Given the description of an element on the screen output the (x, y) to click on. 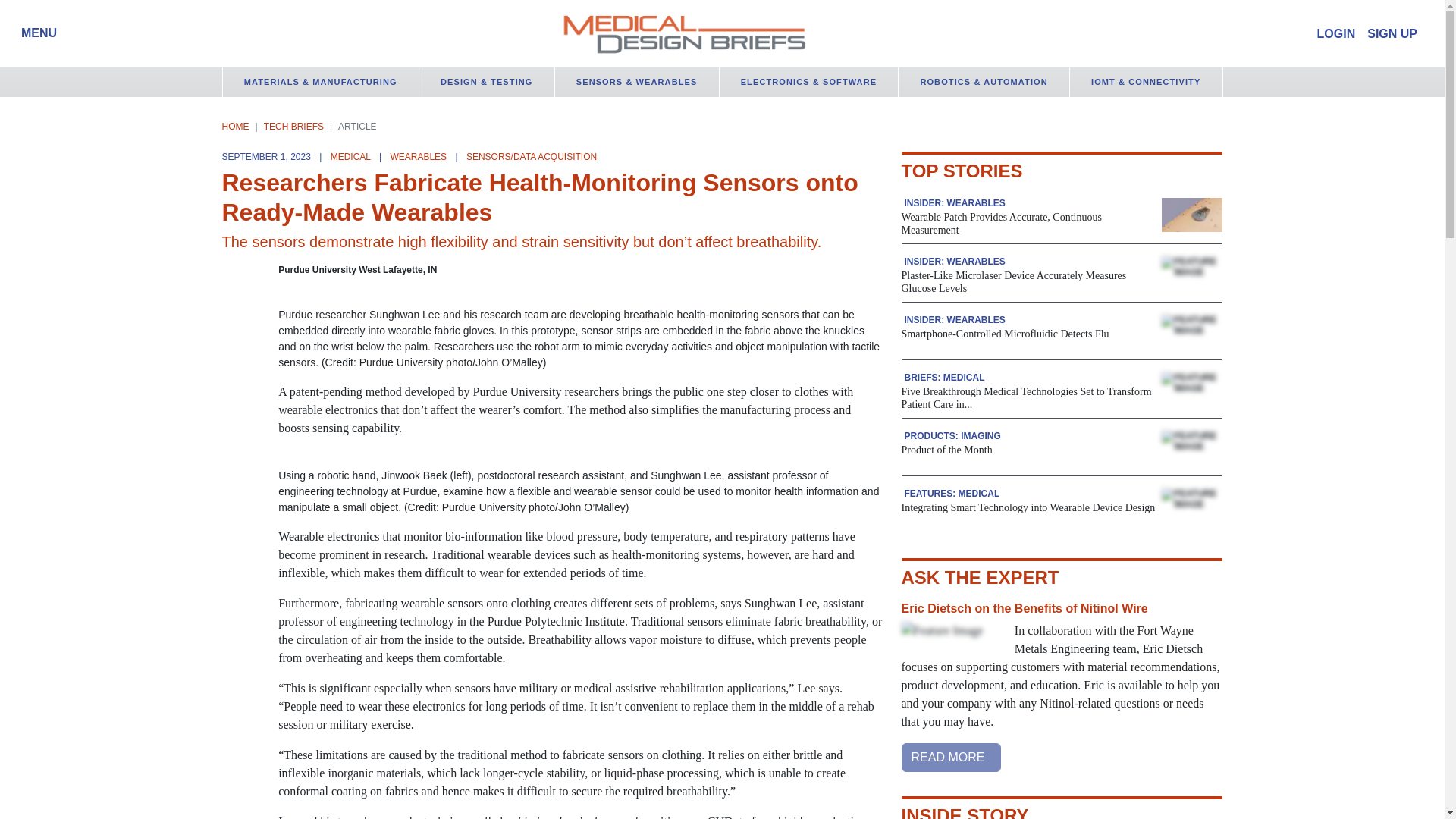
SIGN UP (1392, 32)
MENU (35, 33)
LOGIN (1336, 32)
